Given the description of an element on the screen output the (x, y) to click on. 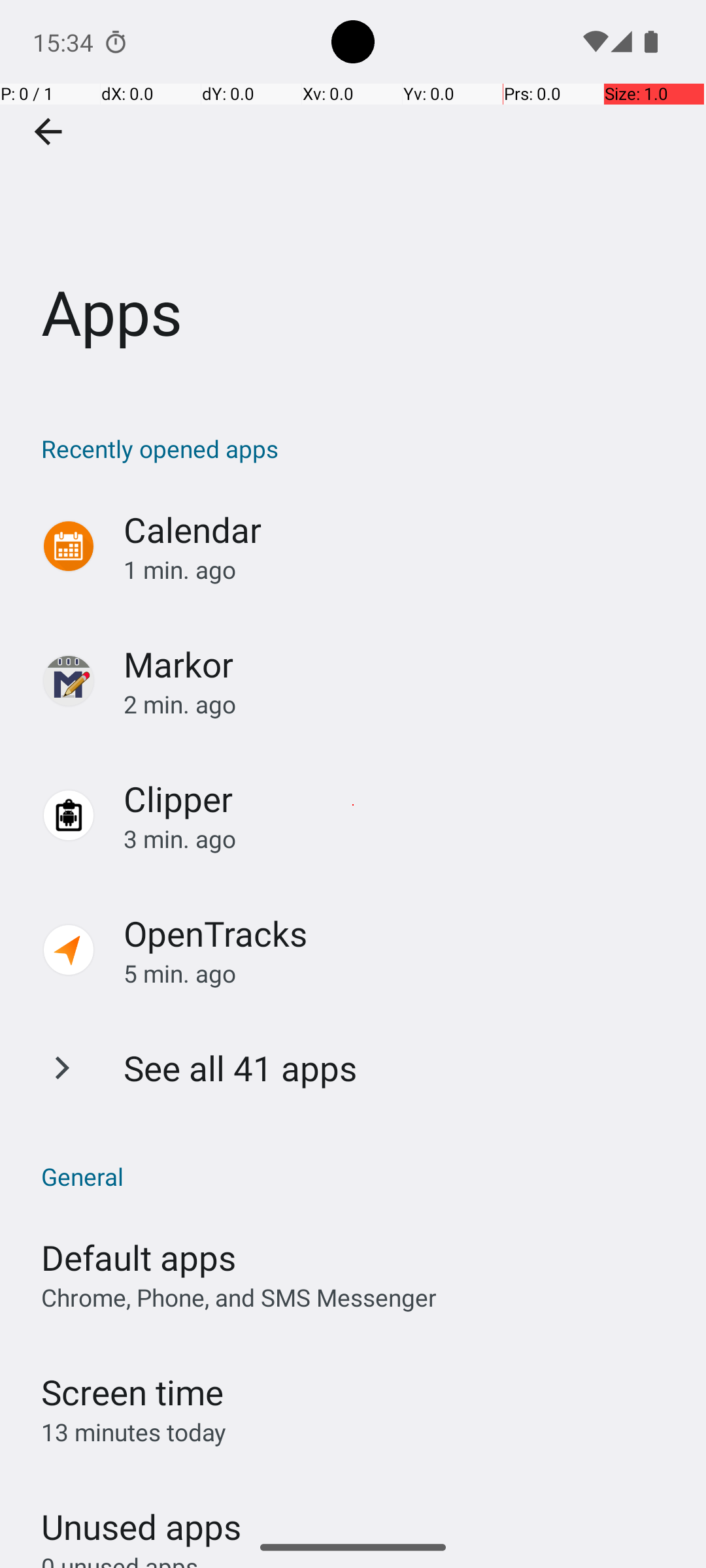
5 min. ago Element type: android.widget.TextView (400, 972)
13 minutes today Element type: android.widget.TextView (133, 1431)
